Given the description of an element on the screen output the (x, y) to click on. 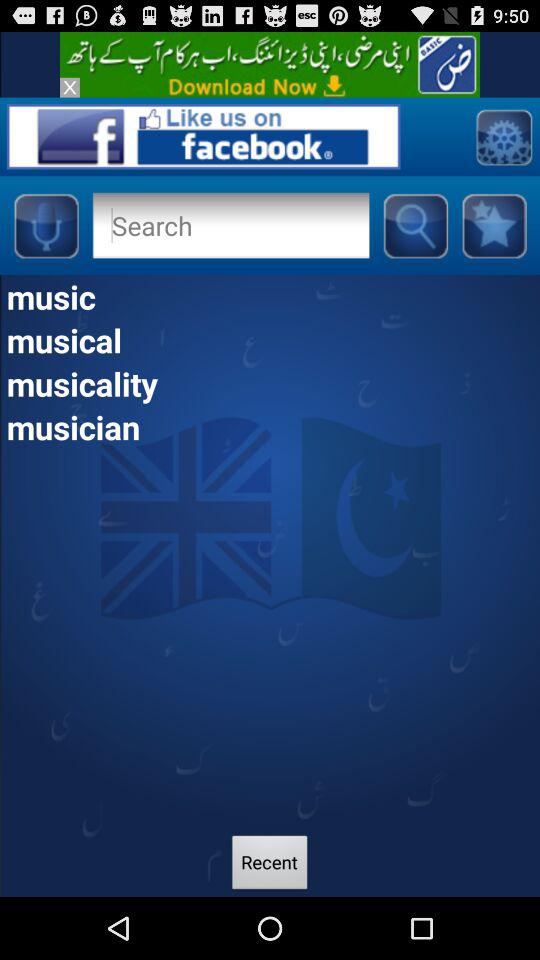
press app above the musician app (270, 383)
